Given the description of an element on the screen output the (x, y) to click on. 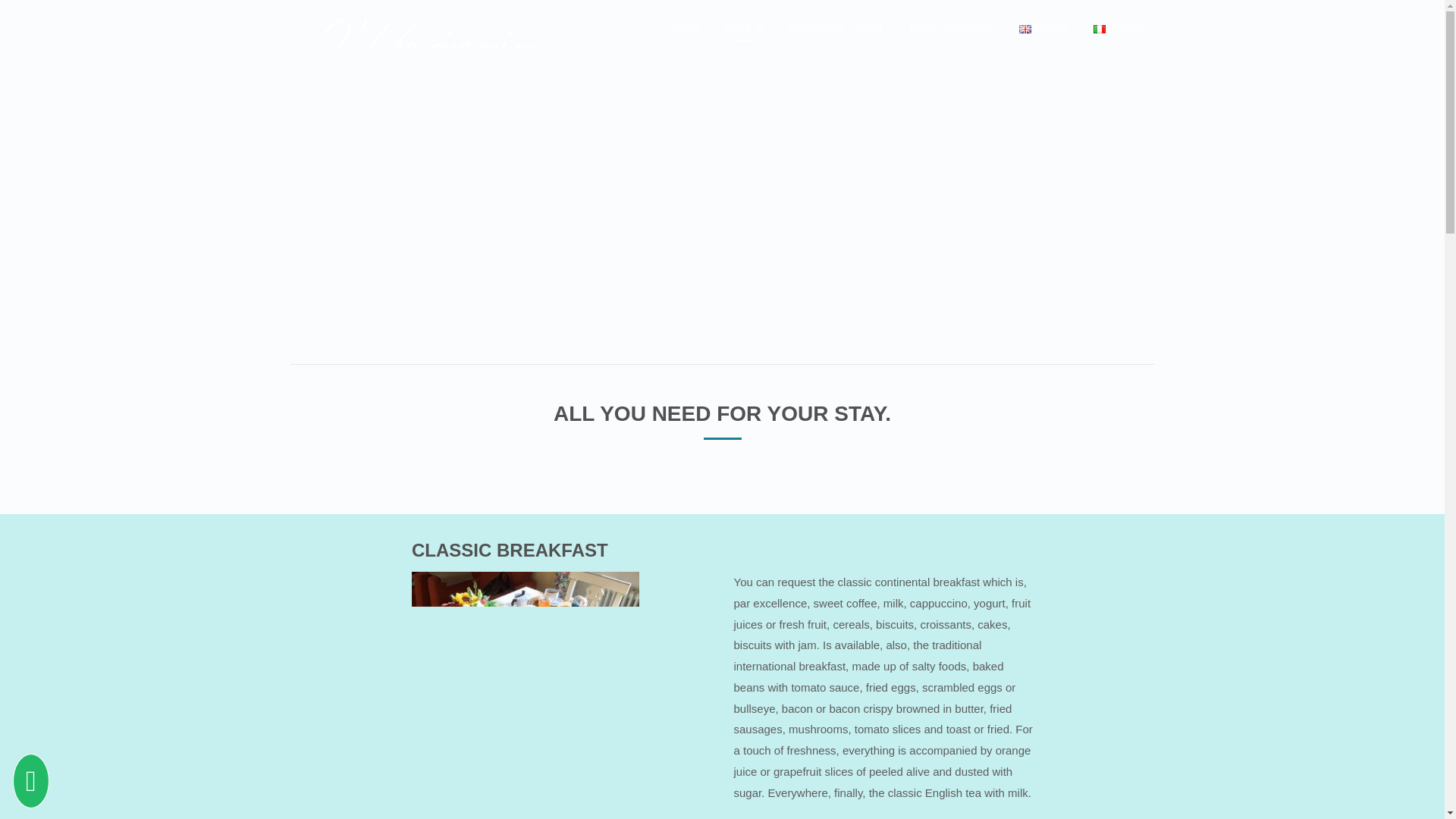
Sensational Umbria (835, 27)
English (1043, 27)
Check Availability (949, 28)
English (1024, 29)
Italiano (1117, 27)
About us (744, 27)
Italiano (1099, 29)
